Given the description of an element on the screen output the (x, y) to click on. 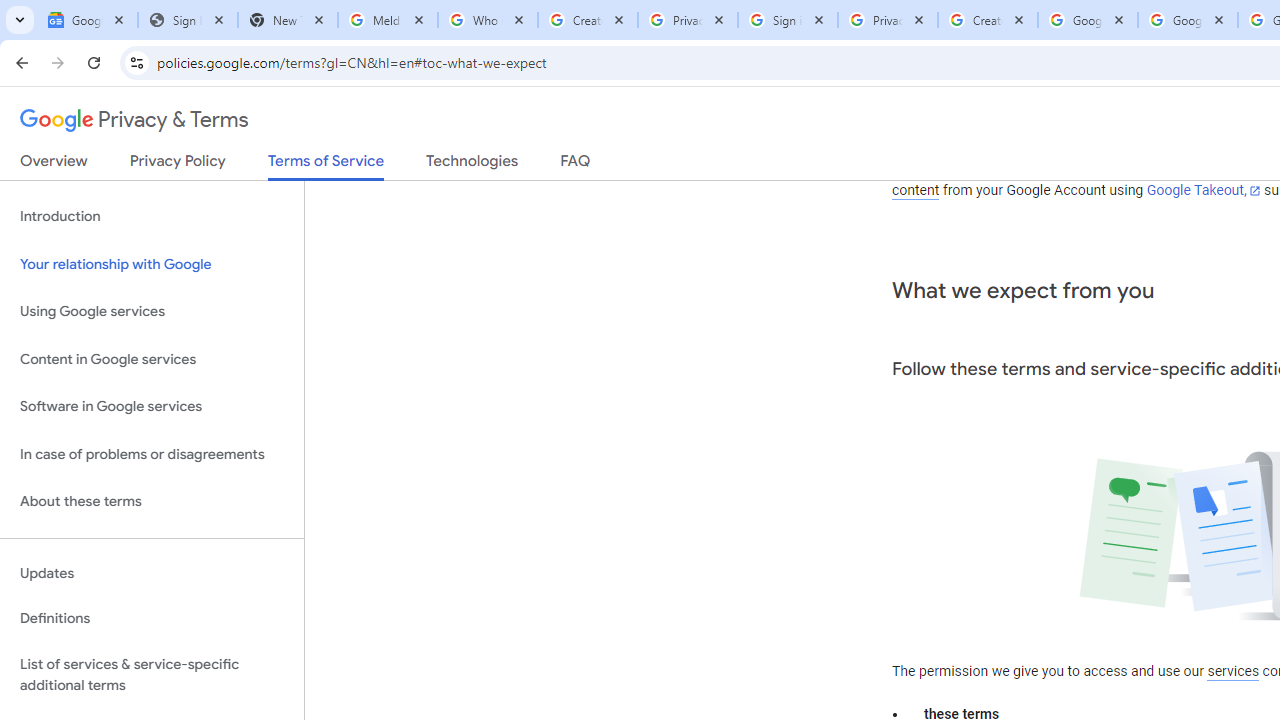
Sign in - Google Accounts (788, 20)
Using Google services (152, 312)
About these terms (152, 502)
Who is my administrator? - Google Account Help (487, 20)
Content in Google services (152, 358)
